Given the description of an element on the screen output the (x, y) to click on. 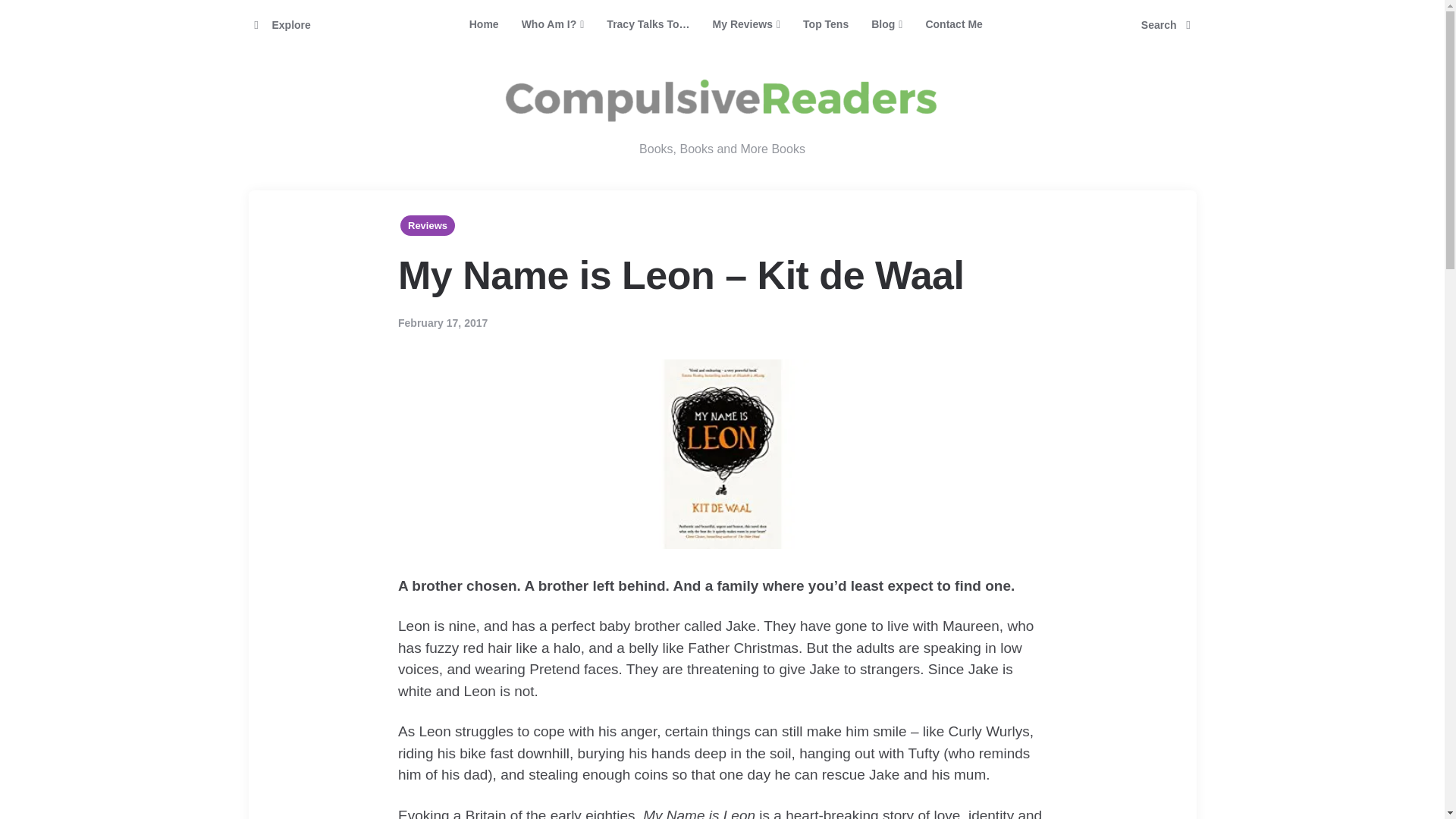
Blog (887, 24)
Home (484, 24)
Top Tens (826, 24)
Who Am I? (553, 24)
My Reviews (746, 24)
Contact Me (953, 24)
